Given the description of an element on the screen output the (x, y) to click on. 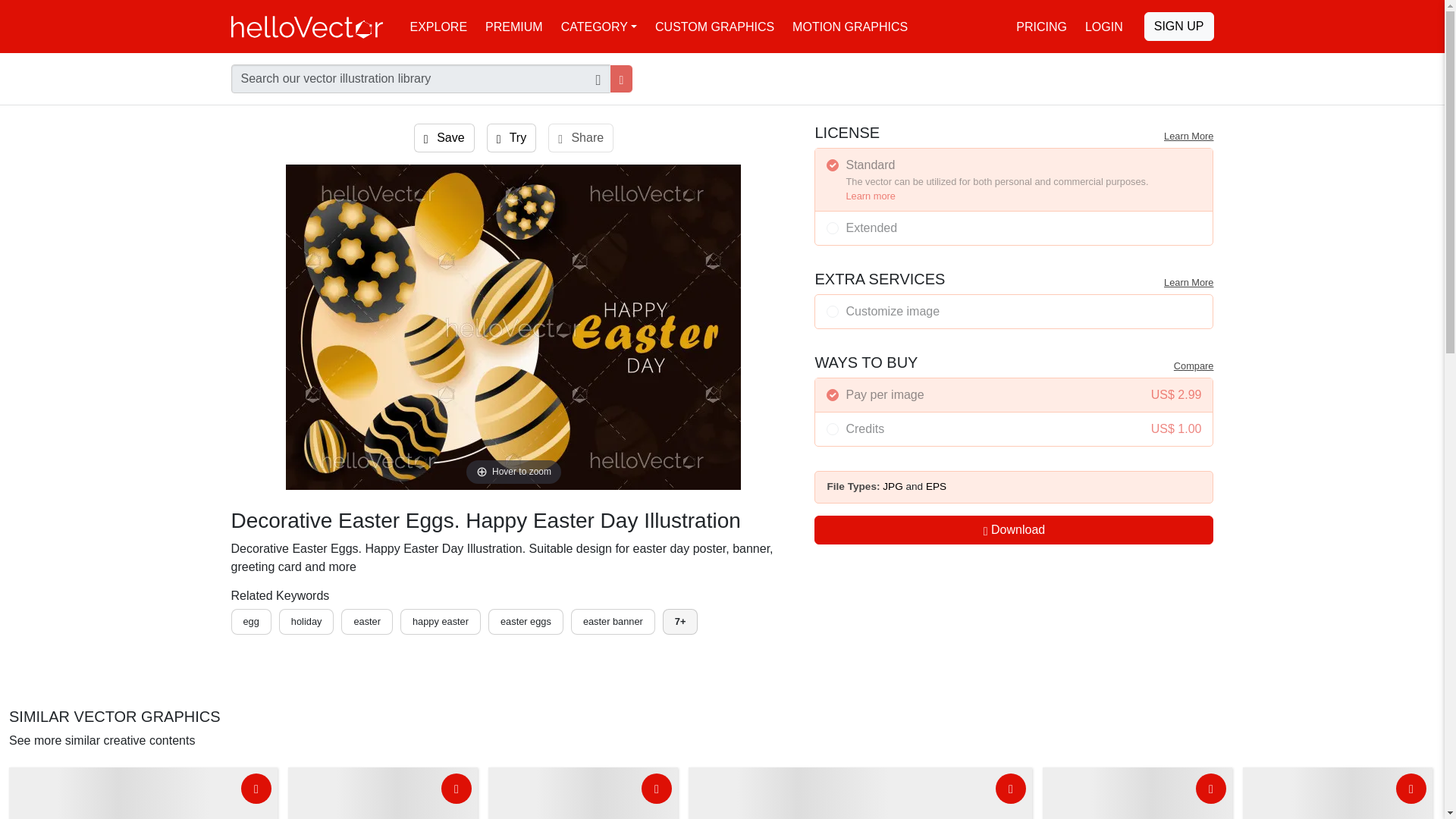
2 (832, 428)
Learn more about image license (1187, 135)
PREMIUM (513, 26)
Save (443, 137)
CUSTOM GRAPHICS (714, 26)
1 (832, 164)
EXPLORE (438, 26)
2 (832, 227)
LOGIN (1103, 26)
Learn more about standard license (870, 195)
1 (832, 311)
Learn more about terms and conditions (1187, 282)
MOTION GRAPHICS (850, 26)
PRICING (1041, 26)
SIGN UP (1179, 26)
